Given the description of an element on the screen output the (x, y) to click on. 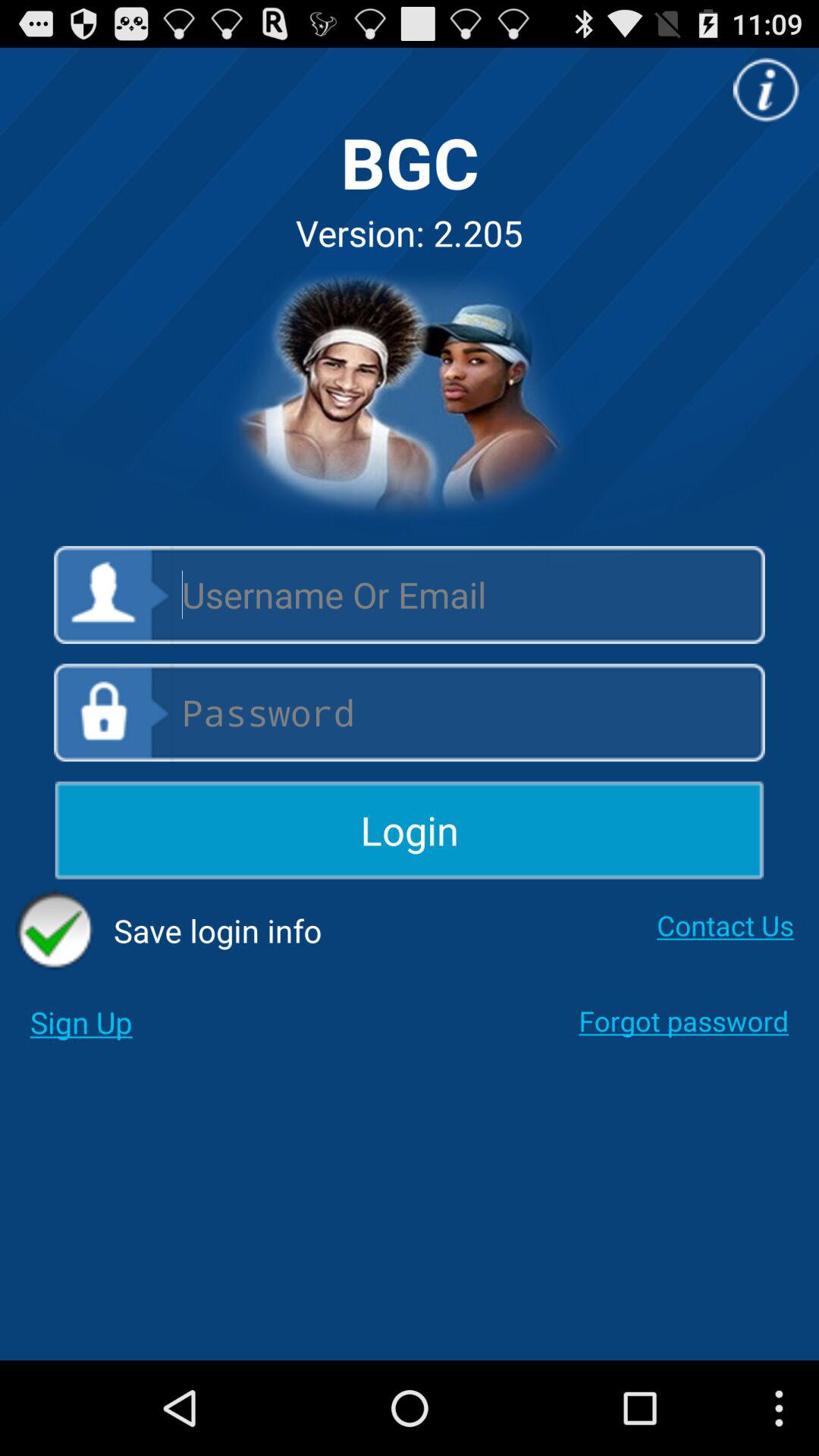
click the item below contact us app (683, 1020)
